Given the description of an element on the screen output the (x, y) to click on. 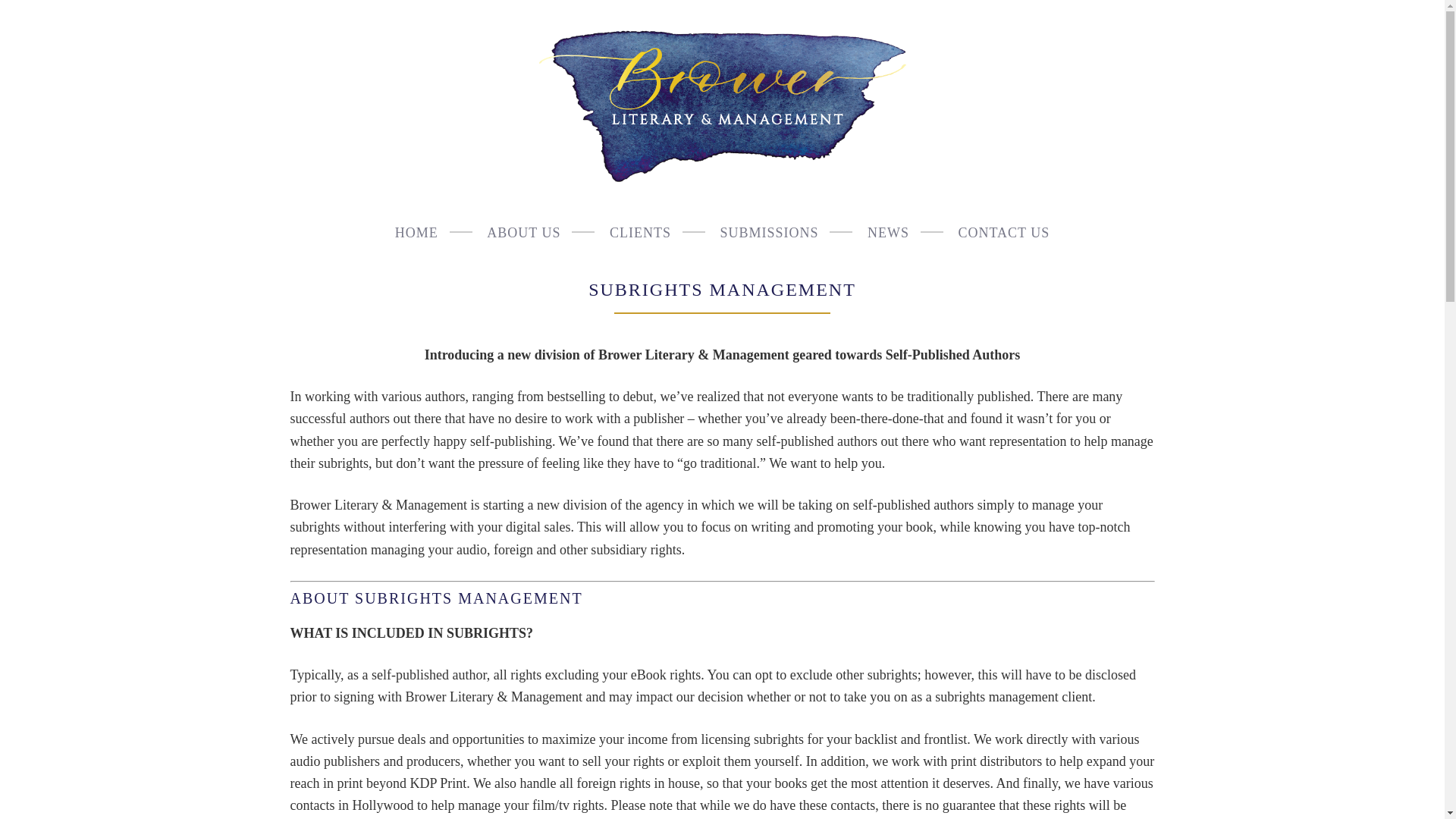
CLIENTS (640, 230)
CONTACT US (1002, 230)
SUBMISSIONS (769, 230)
ABOUT US (523, 230)
NEWS (887, 230)
HOME (416, 230)
